Given the description of an element on the screen output the (x, y) to click on. 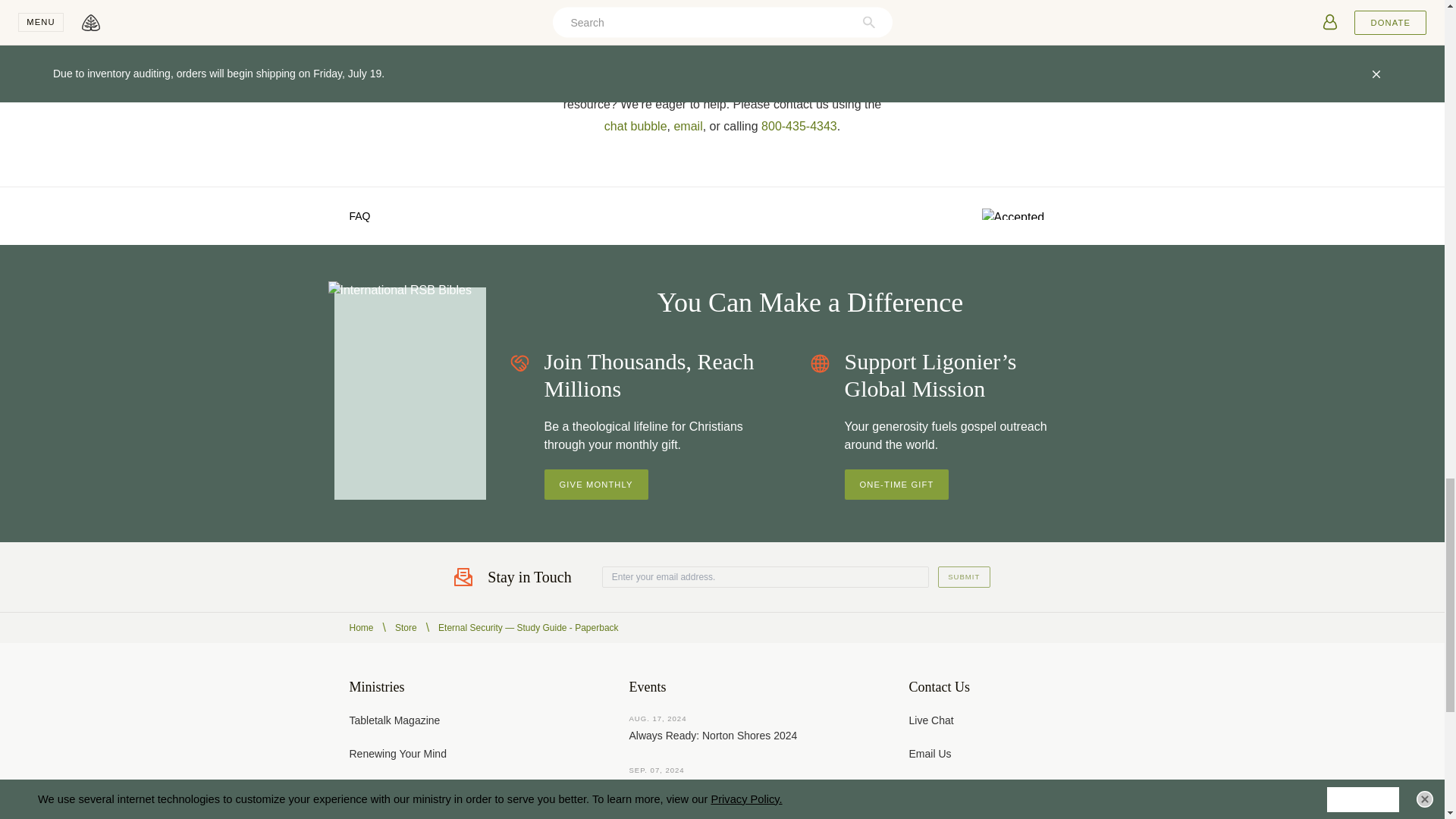
One-Time Gift (896, 484)
Give Monthly (595, 484)
